Given the description of an element on the screen output the (x, y) to click on. 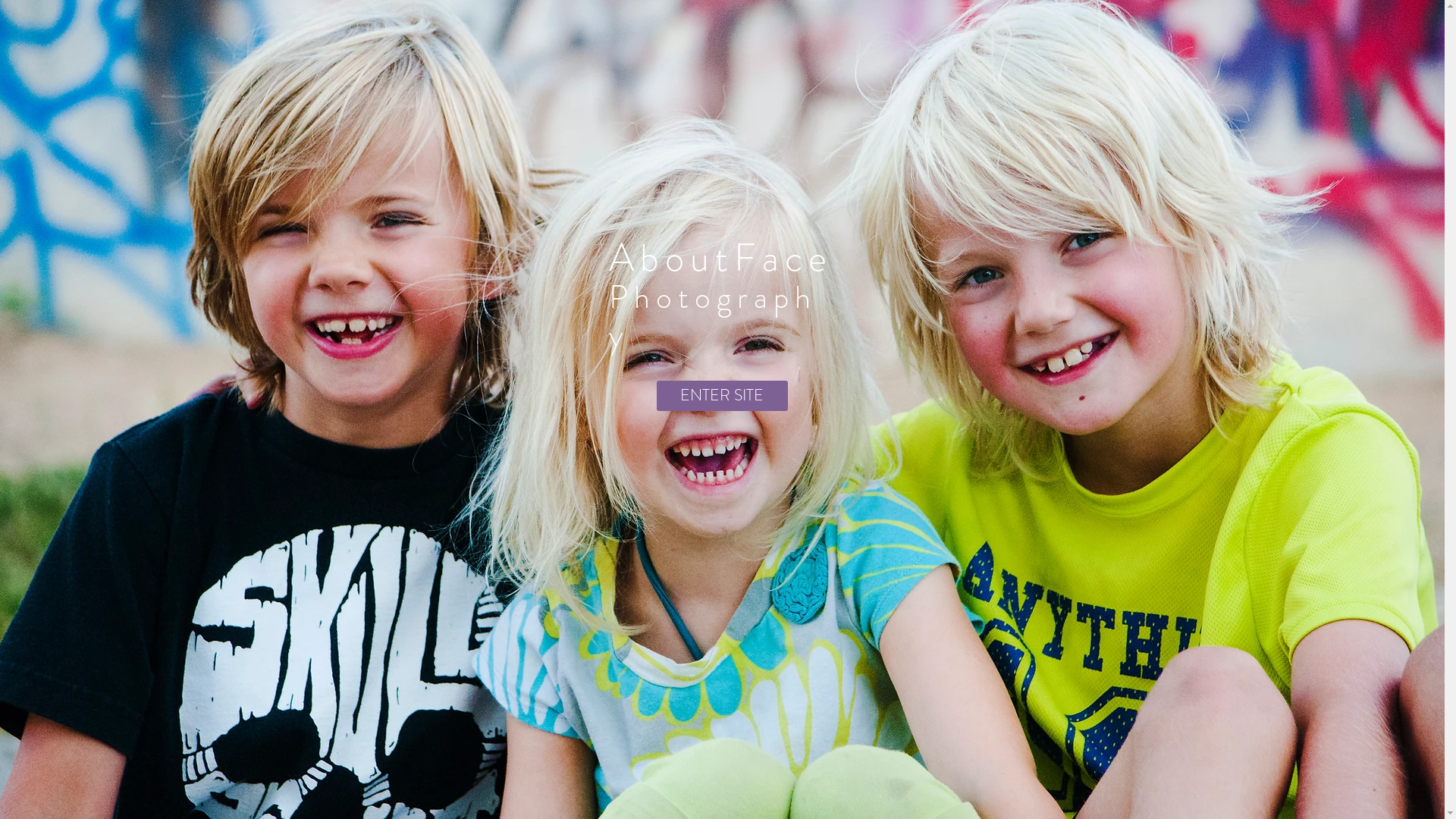
ENTER SITE Element type: text (721, 395)
